Given the description of an element on the screen output the (x, y) to click on. 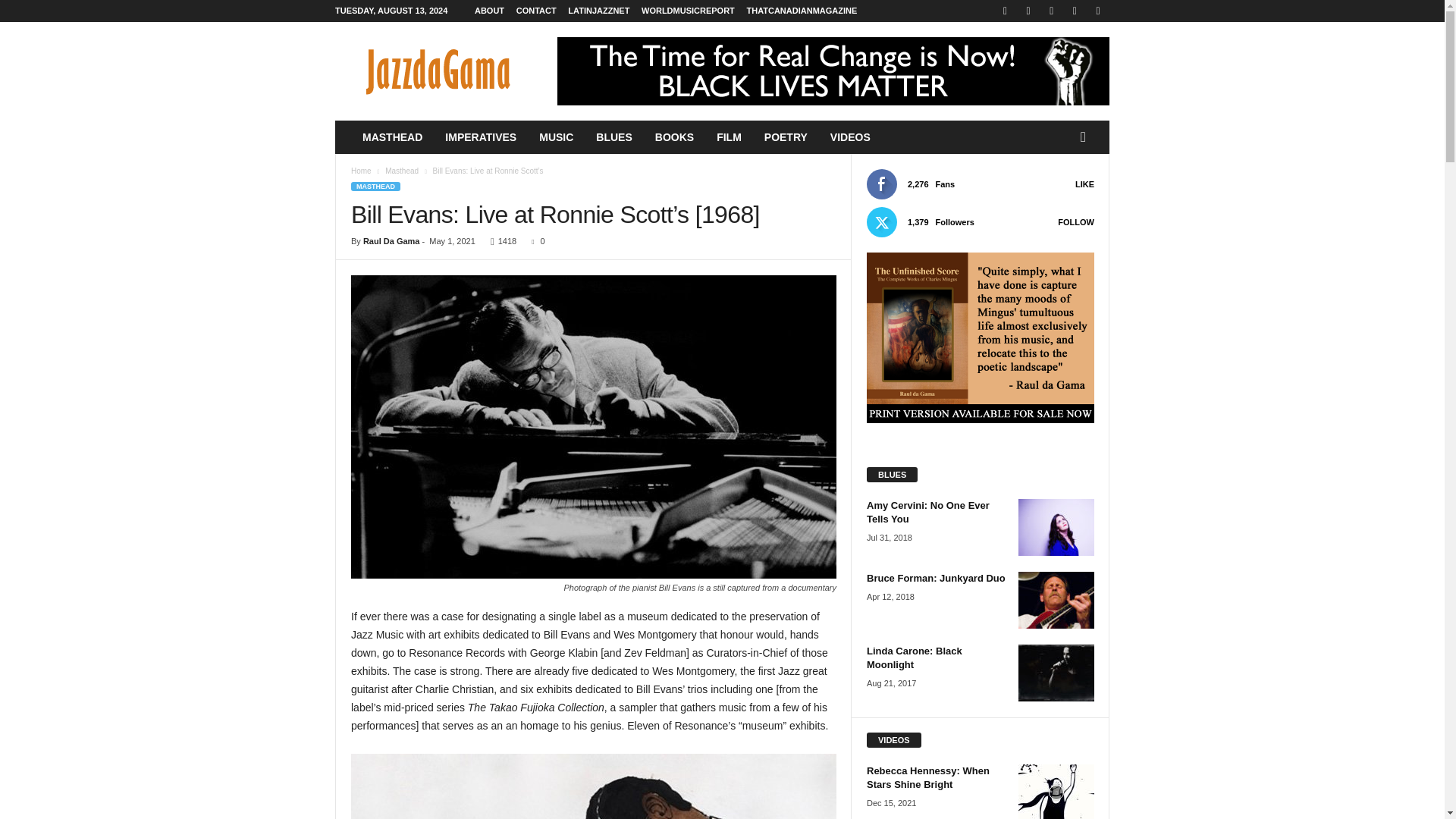
LATINJAZZNET (597, 10)
VIDEOS (850, 136)
thatcanadianmagazine (801, 10)
MASTHEAD (375, 185)
WorldMusicReport (688, 10)
FILM (728, 136)
IMPERATIVES (480, 136)
MASTHEAD (391, 136)
BLUES (614, 136)
Raul Da Gama (391, 240)
